Given the description of an element on the screen output the (x, y) to click on. 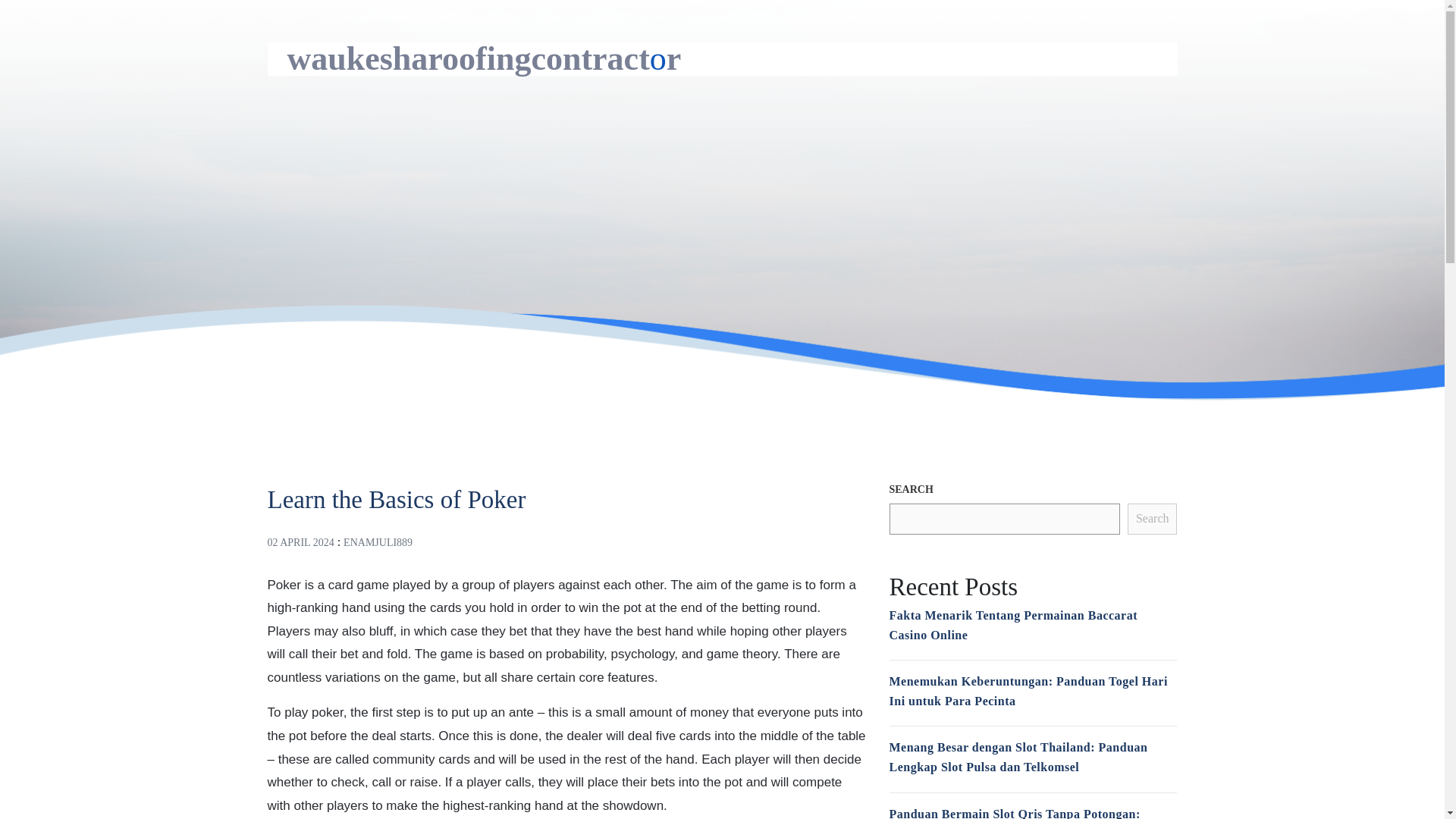
waukesharoofingcontractor (483, 58)
Search (1151, 518)
02 APRIL 2024 (299, 542)
ENAMJULI889 (377, 542)
Fakta Menarik Tentang Permainan Baccarat Casino Online (1012, 625)
